Given the description of an element on the screen output the (x, y) to click on. 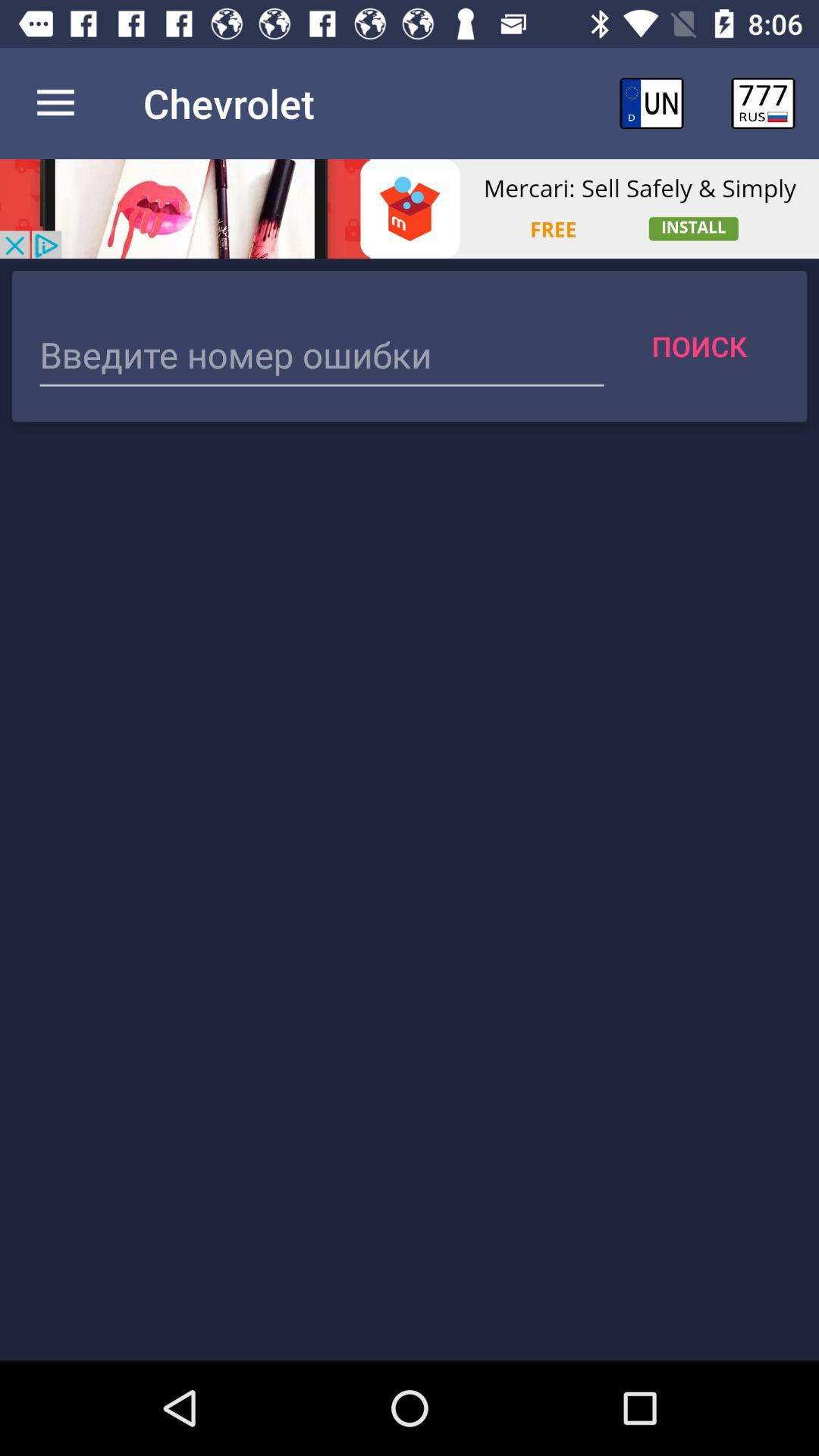
text box to enter (321, 357)
